Given the description of an element on the screen output the (x, y) to click on. 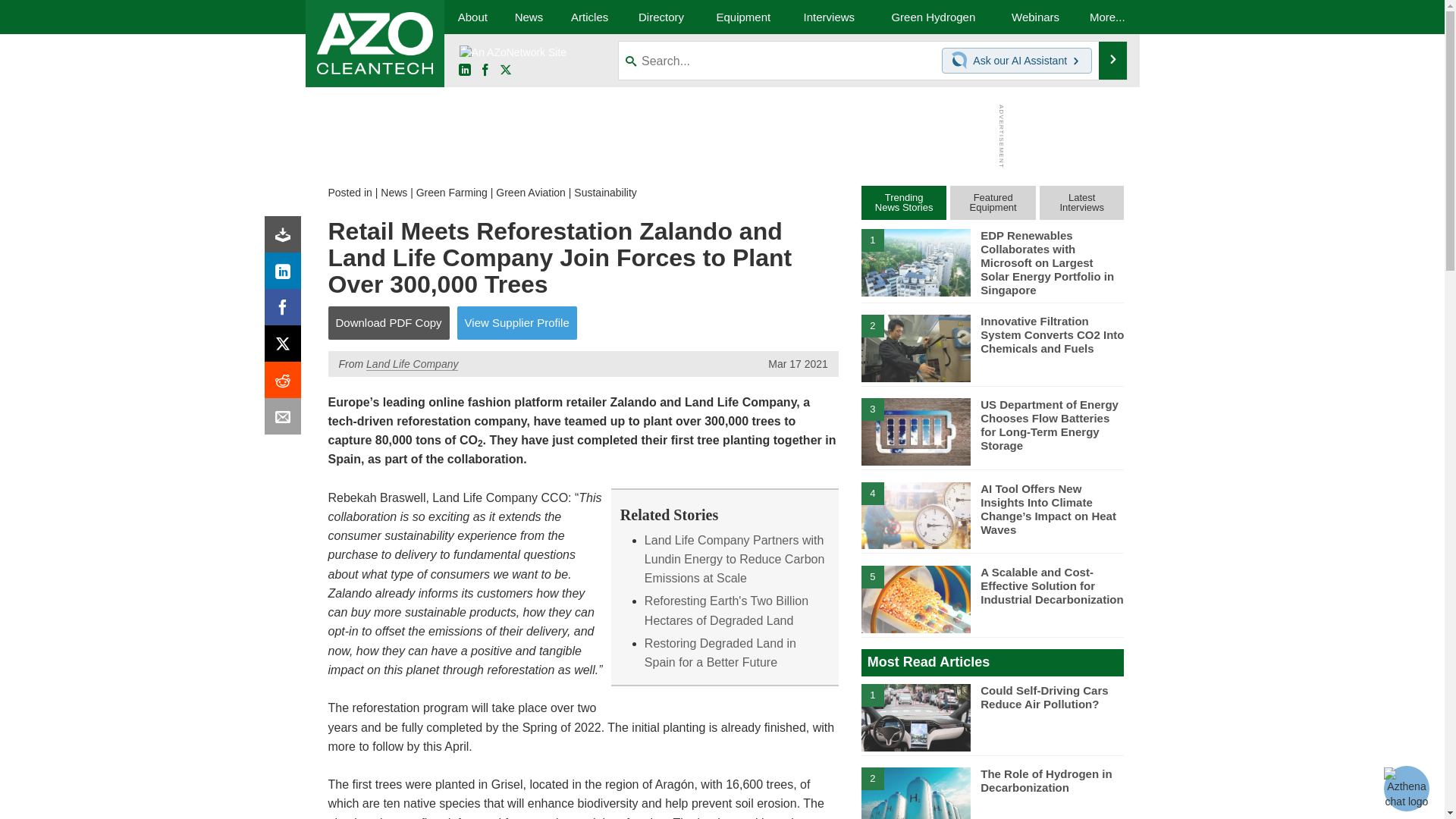
Directory (660, 17)
LinkedIn (285, 275)
Email (285, 420)
Green Hydrogen (932, 17)
About (472, 17)
Facebook (285, 311)
News (393, 192)
Green Farming (451, 192)
X (285, 348)
Green Aviation (531, 192)
